Given the description of an element on the screen output the (x, y) to click on. 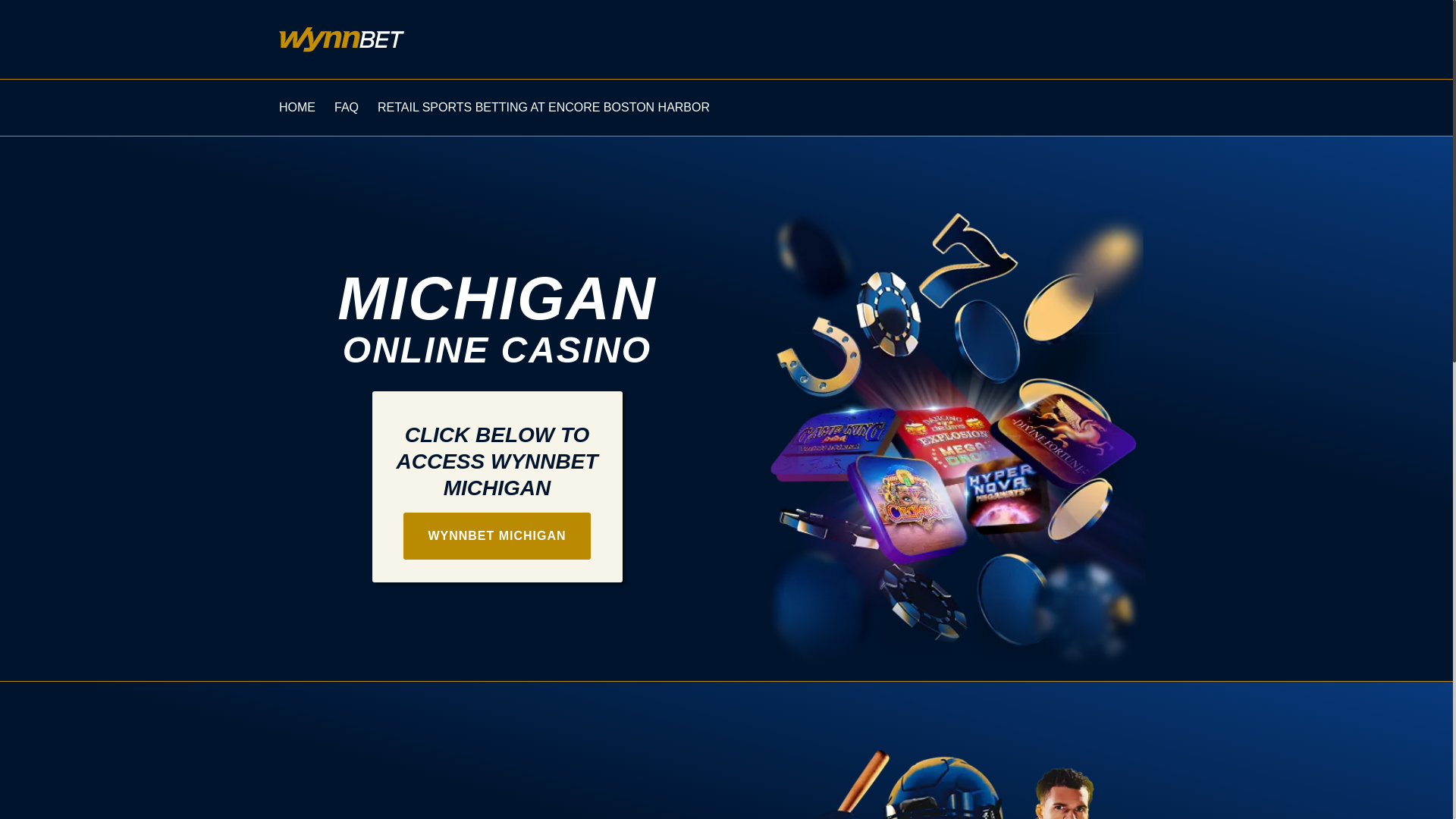
WYNNBET MICHIGAN (496, 535)
RETAIL SPORTS BETTING AT ENCORE BOSTON HARBOR (543, 107)
